Given the description of an element on the screen output the (x, y) to click on. 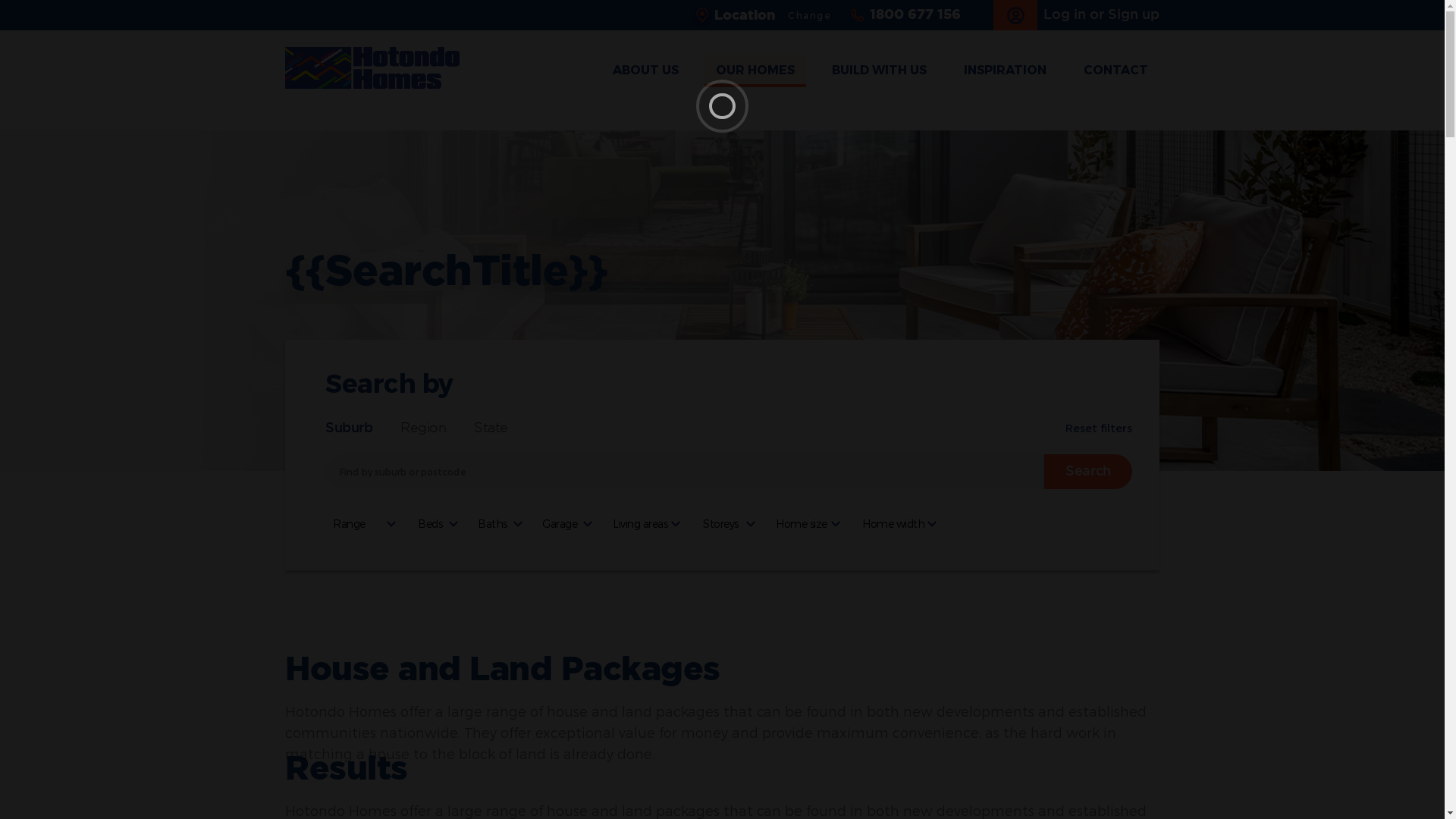
Reset filters Element type: text (1098, 427)
Region Element type: text (422, 428)
CONTACT Element type: text (1115, 70)
State Element type: text (490, 428)
ABOUT US Element type: text (645, 70)
INSPIRATION Element type: text (1004, 70)
BUILD WITH US Element type: text (879, 70)
Search Element type: text (1088, 471)
Suburb Element type: text (348, 428)
Change Element type: text (809, 14)
OUR HOMES Element type: text (755, 70)
Location Element type: text (740, 15)
Log in or Sign up Element type: text (1076, 15)
1800 677 156 Element type: text (905, 14)
